Given the description of an element on the screen output the (x, y) to click on. 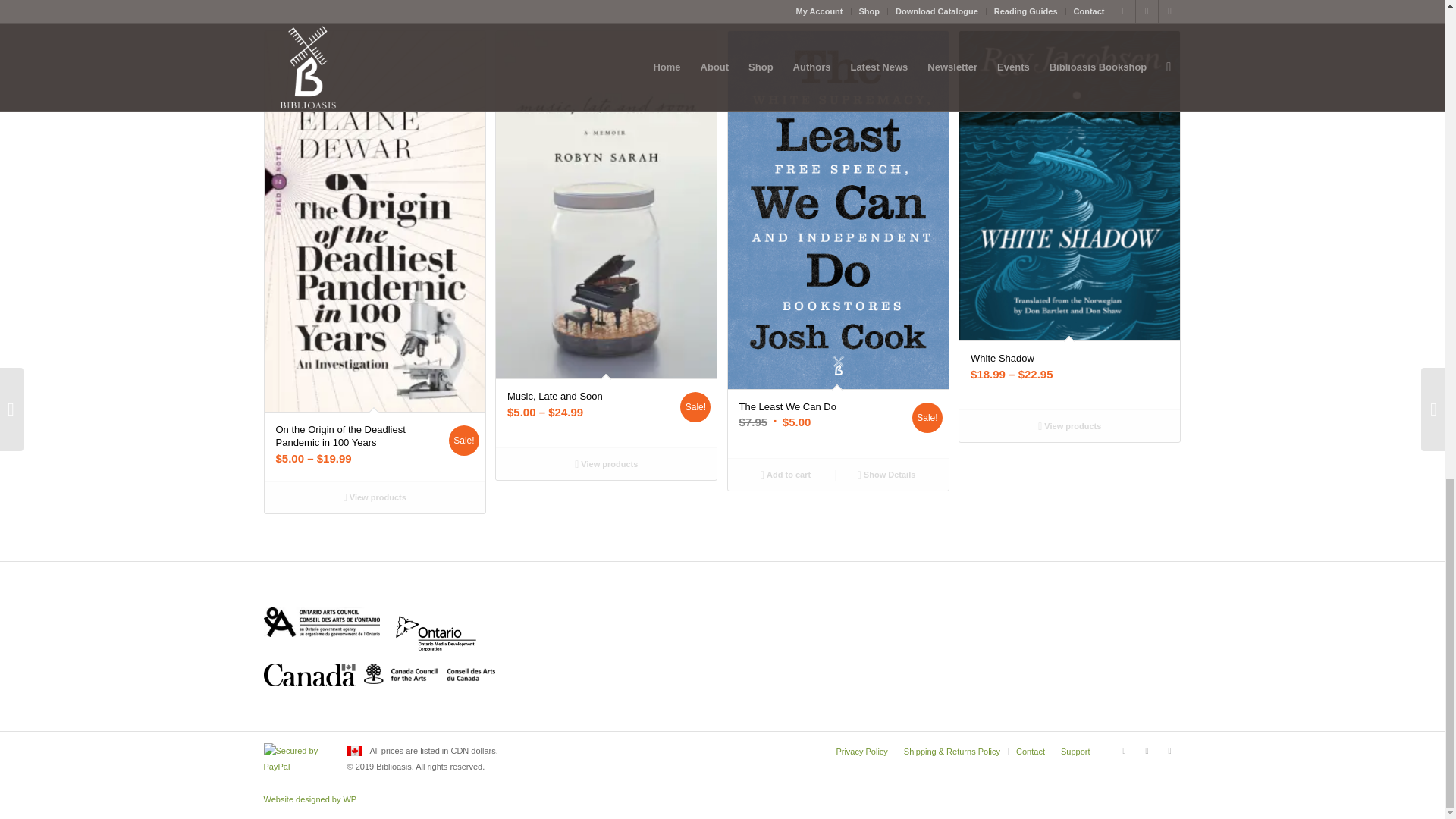
Facebook (1124, 750)
X (1146, 750)
Mail (1169, 750)
